Given the description of an element on the screen output the (x, y) to click on. 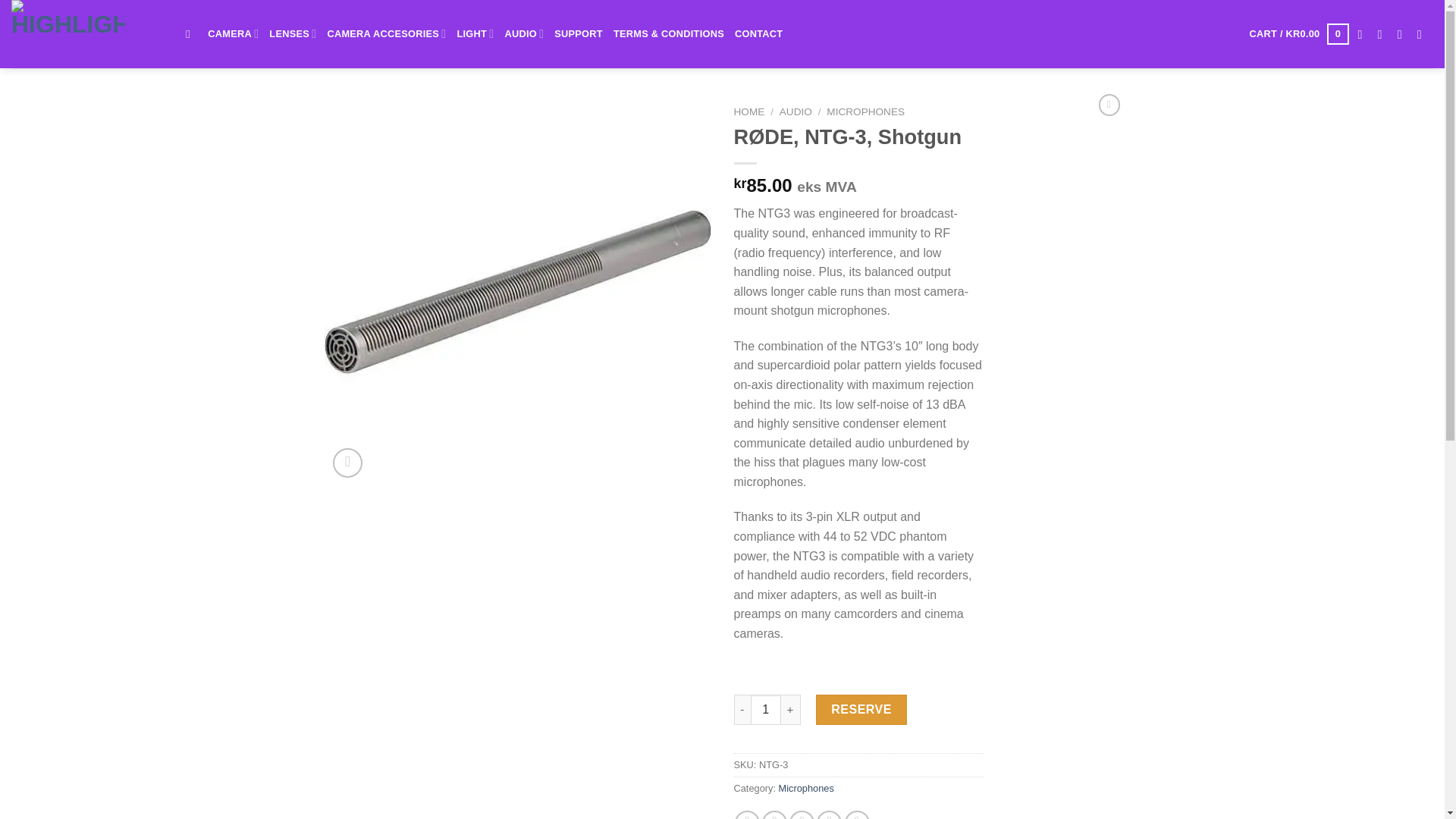
Share on Twitter (774, 814)
LIGHT (475, 33)
Zoom (347, 462)
CAMERA (233, 33)
Cart (1299, 34)
LENSES (292, 33)
CAMERA ACCESORIES (385, 33)
Follow on Instagram (1383, 33)
Highlight - Utleie av filmutstyr (87, 33)
Share on Facebook (747, 814)
